Given the description of an element on the screen output the (x, y) to click on. 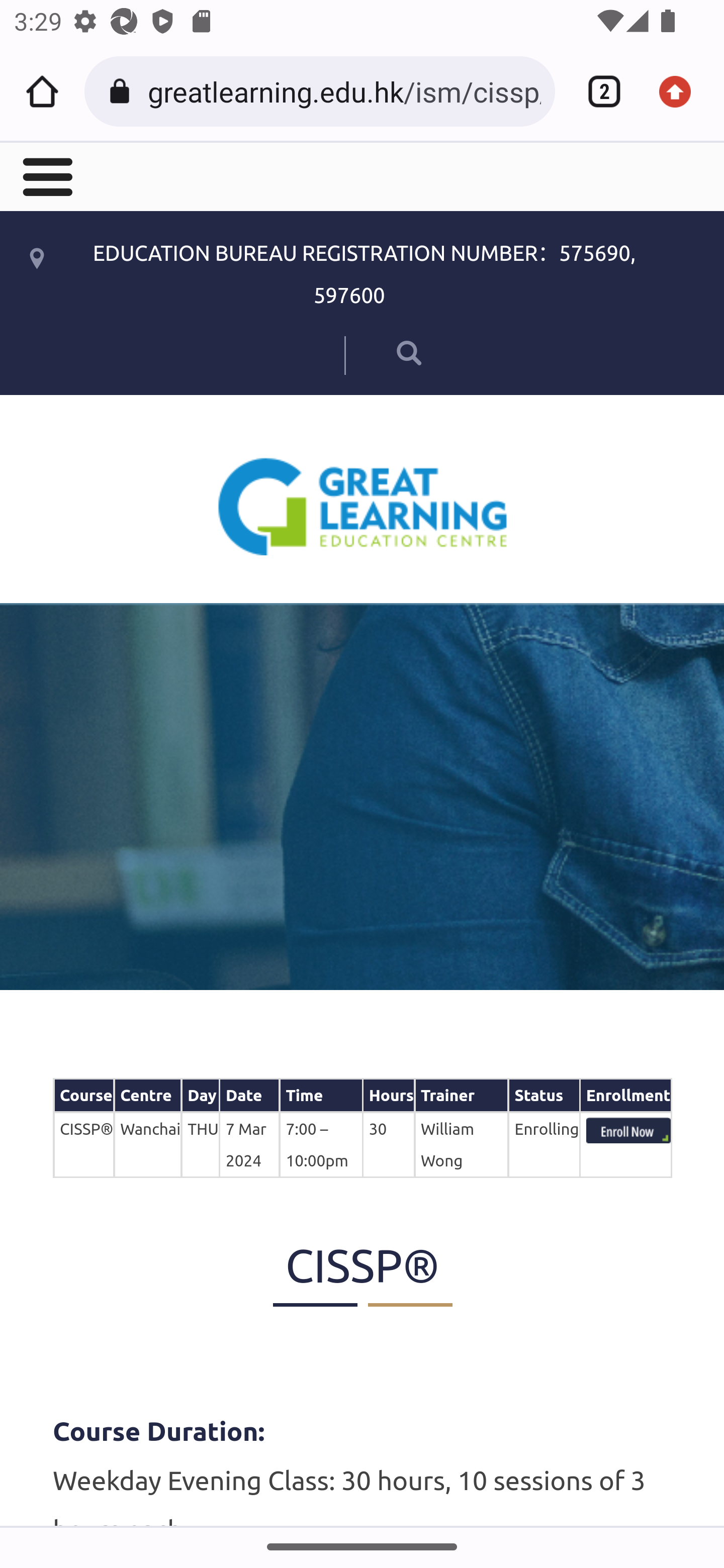
Home (42, 91)
Connection is secure (122, 91)
Switch or close tabs (597, 91)
Update available. More options (681, 91)
 (45, 175)
 (382, 351)
Welcome to Great Learning Education Centre (362, 505)
index (627, 1130)
